Given the description of an element on the screen output the (x, y) to click on. 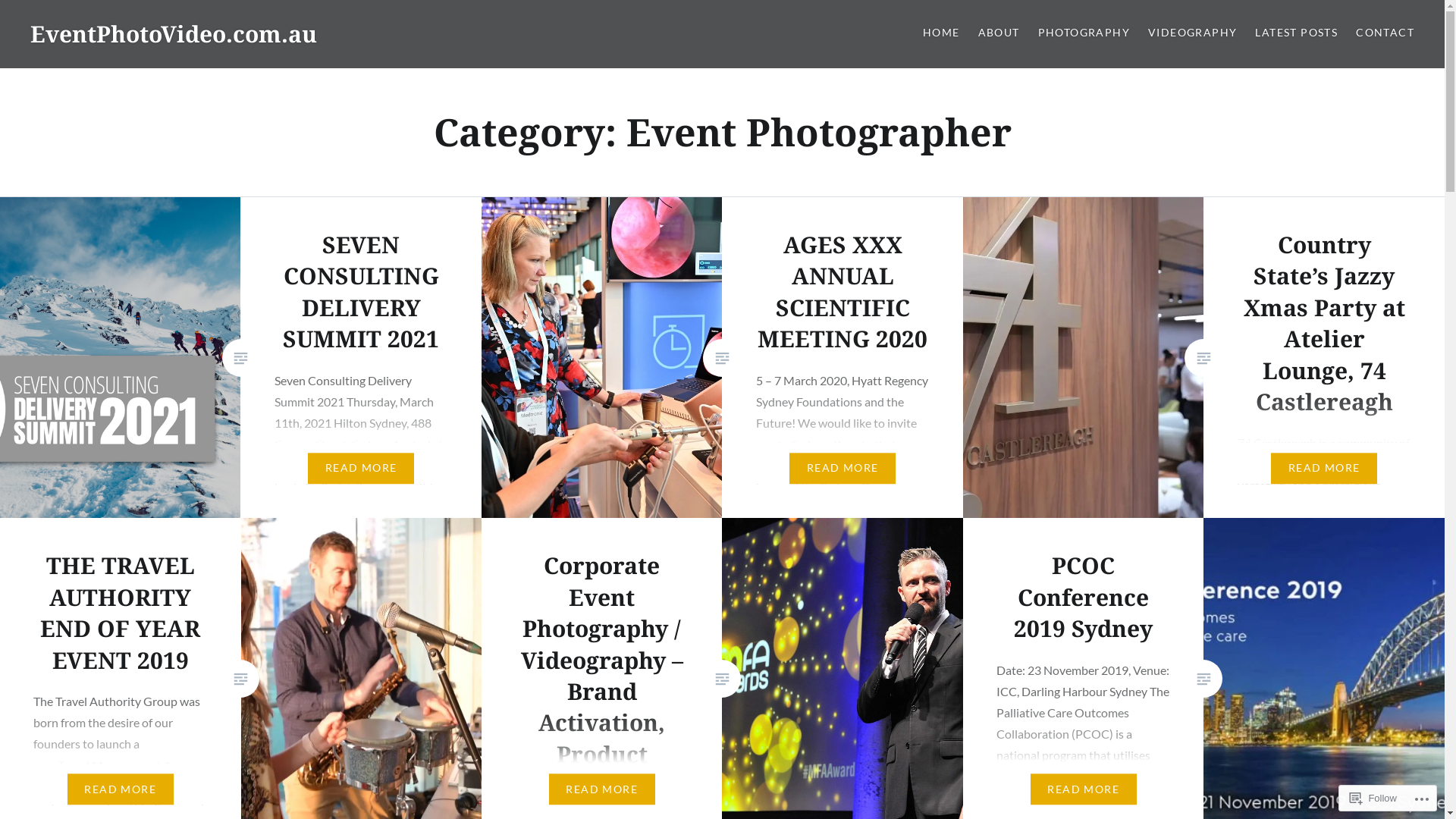
READ MORE Element type: text (1083, 789)
ABOUT Element type: text (998, 32)
HOME Element type: text (941, 32)
VIDEOGRAPHY Element type: text (1192, 32)
THE TRAVEL AUTHORITY END OF YEAR EVENT 2019 Element type: text (120, 612)
AGES XXX ANNUAL SCIENTIFIC MEETING 2020 Element type: text (842, 291)
PHOTOGRAPHY Element type: text (1083, 32)
CONTACT Element type: text (1384, 32)
SEVEN CONSULTING DELIVERY SUMMIT 2021 Element type: text (360, 291)
READ MORE Element type: text (602, 789)
READ MORE Element type: text (360, 468)
Search Element type: text (141, 19)
PCOC Conference 2019 Sydney Element type: text (1082, 597)
Follow Element type: text (1372, 797)
LATEST POSTS Element type: text (1296, 32)
READ MORE Element type: text (120, 789)
READ MORE Element type: text (842, 468)
EventPhotoVideo.com.au Element type: text (173, 33)
READ MORE Element type: text (1323, 468)
